Given the description of an element on the screen output the (x, y) to click on. 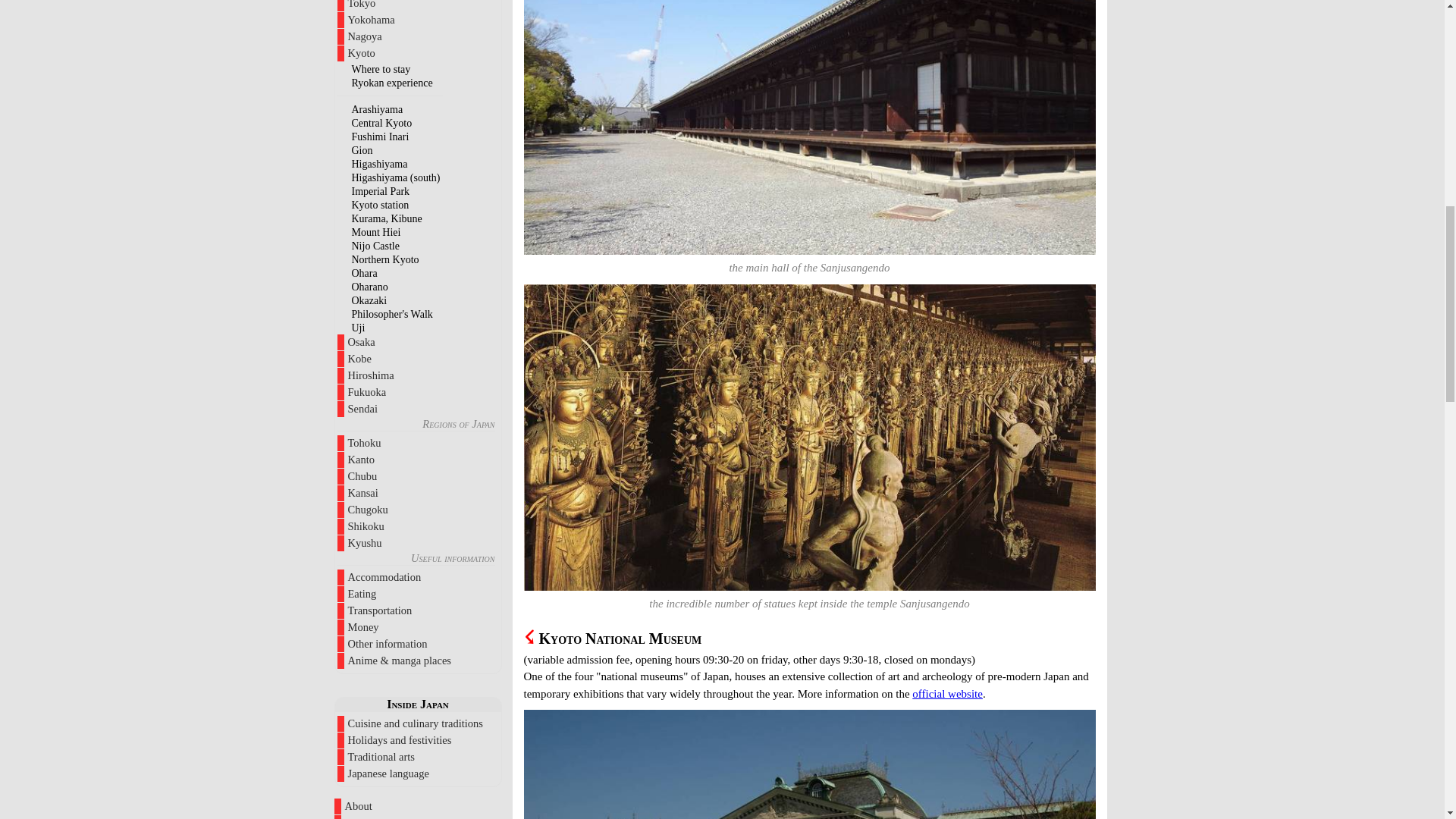
Kyoto (416, 53)
Yokohama (416, 19)
Philosopher's Walk (392, 313)
Kyoto station (380, 204)
Nagoya (416, 36)
Northern Kyoto (385, 258)
Fushimi Inari (380, 135)
Ryokan experience (392, 82)
Higashiyama (379, 163)
Central Kyoto (382, 122)
Oharano (370, 285)
Tokyo (416, 5)
Ohara (364, 272)
Kurama, Kibune (387, 217)
Mount Hiei (376, 231)
